Given the description of an element on the screen output the (x, y) to click on. 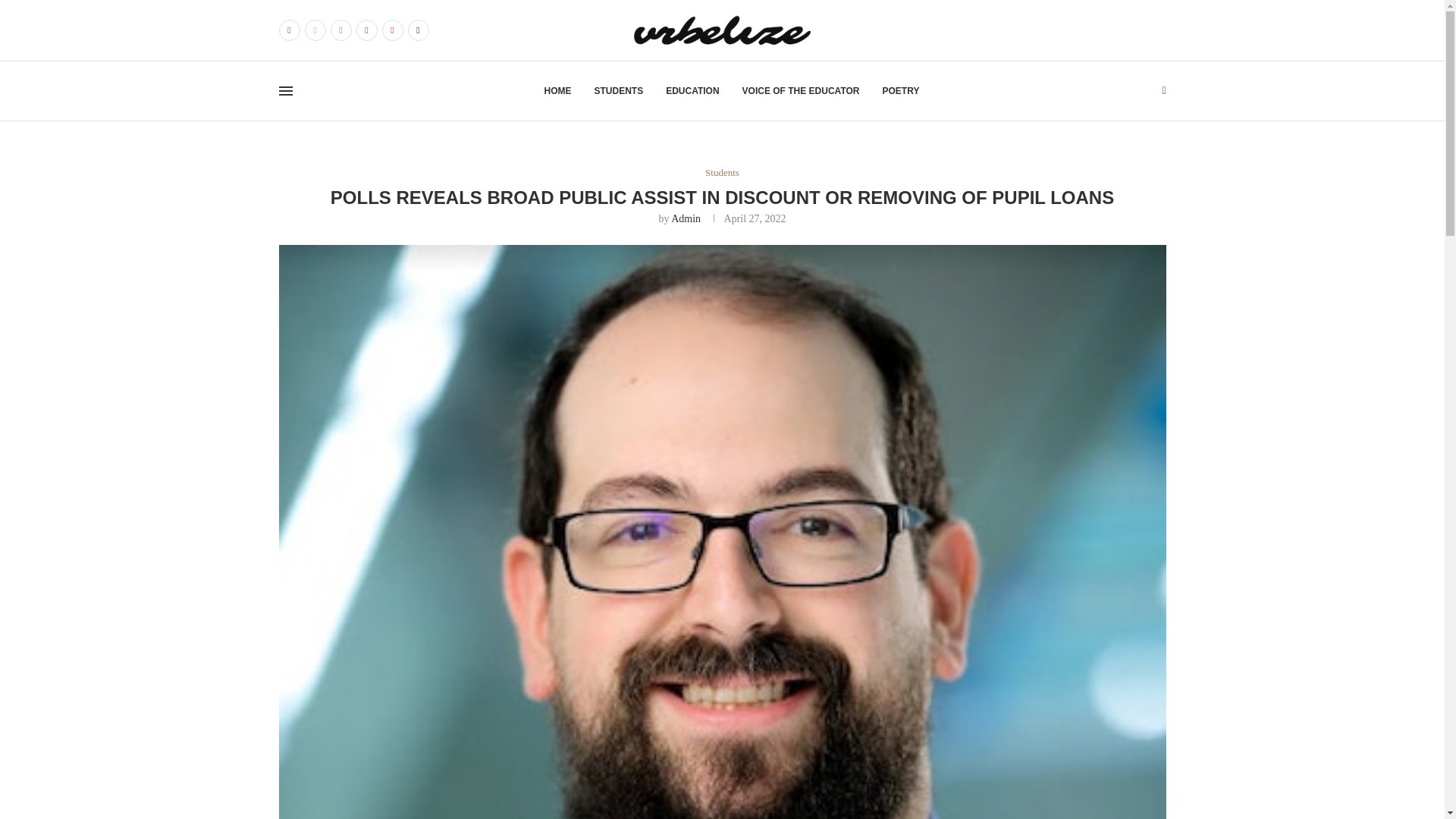
Search (1117, 7)
Search (1117, 119)
STUDENTS (618, 90)
VOICE OF THE EDUCATOR (801, 90)
EDUCATION (692, 90)
